Given the description of an element on the screen output the (x, y) to click on. 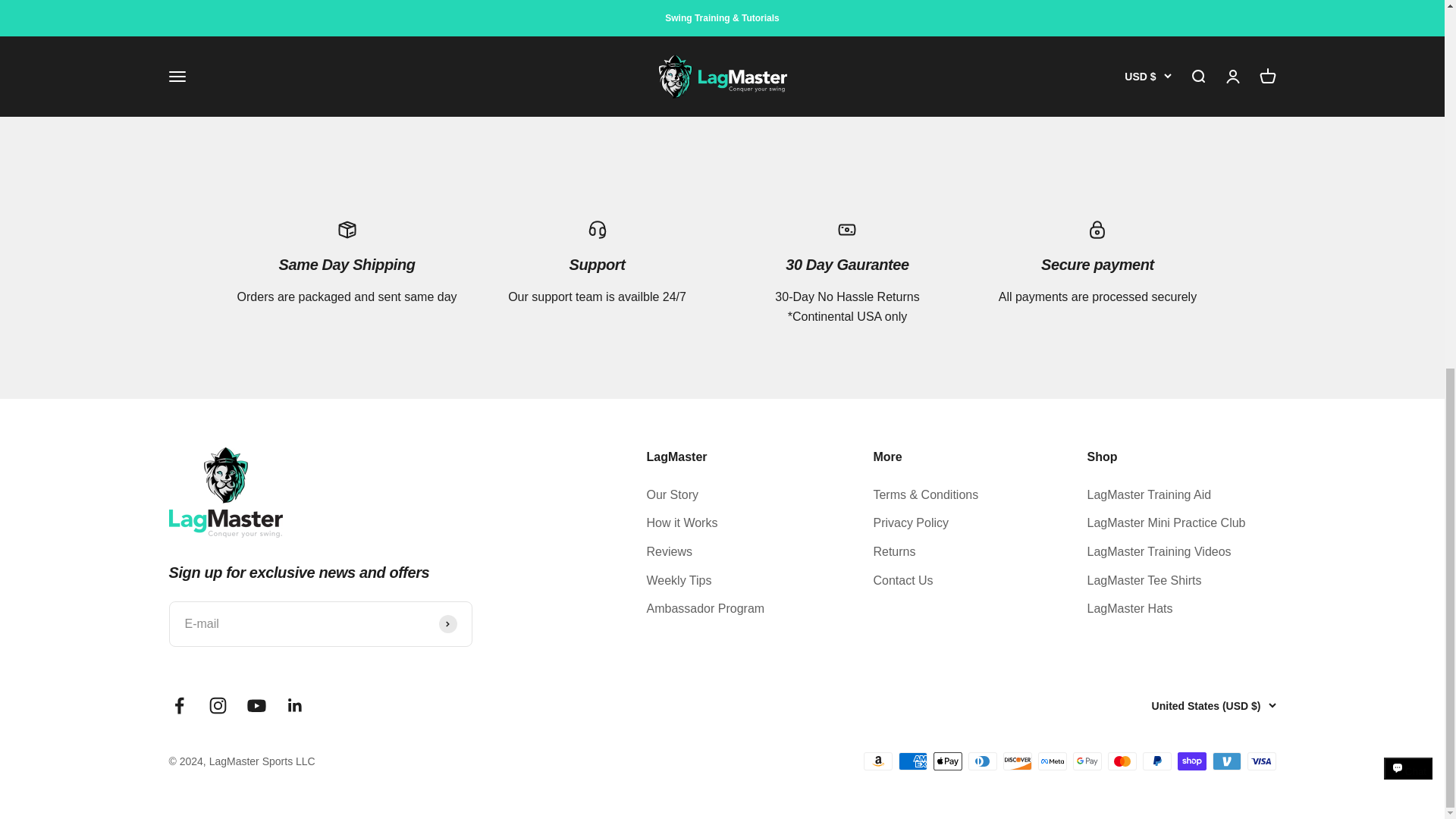
Shopify online store chat (1408, 114)
